Given the description of an element on the screen output the (x, y) to click on. 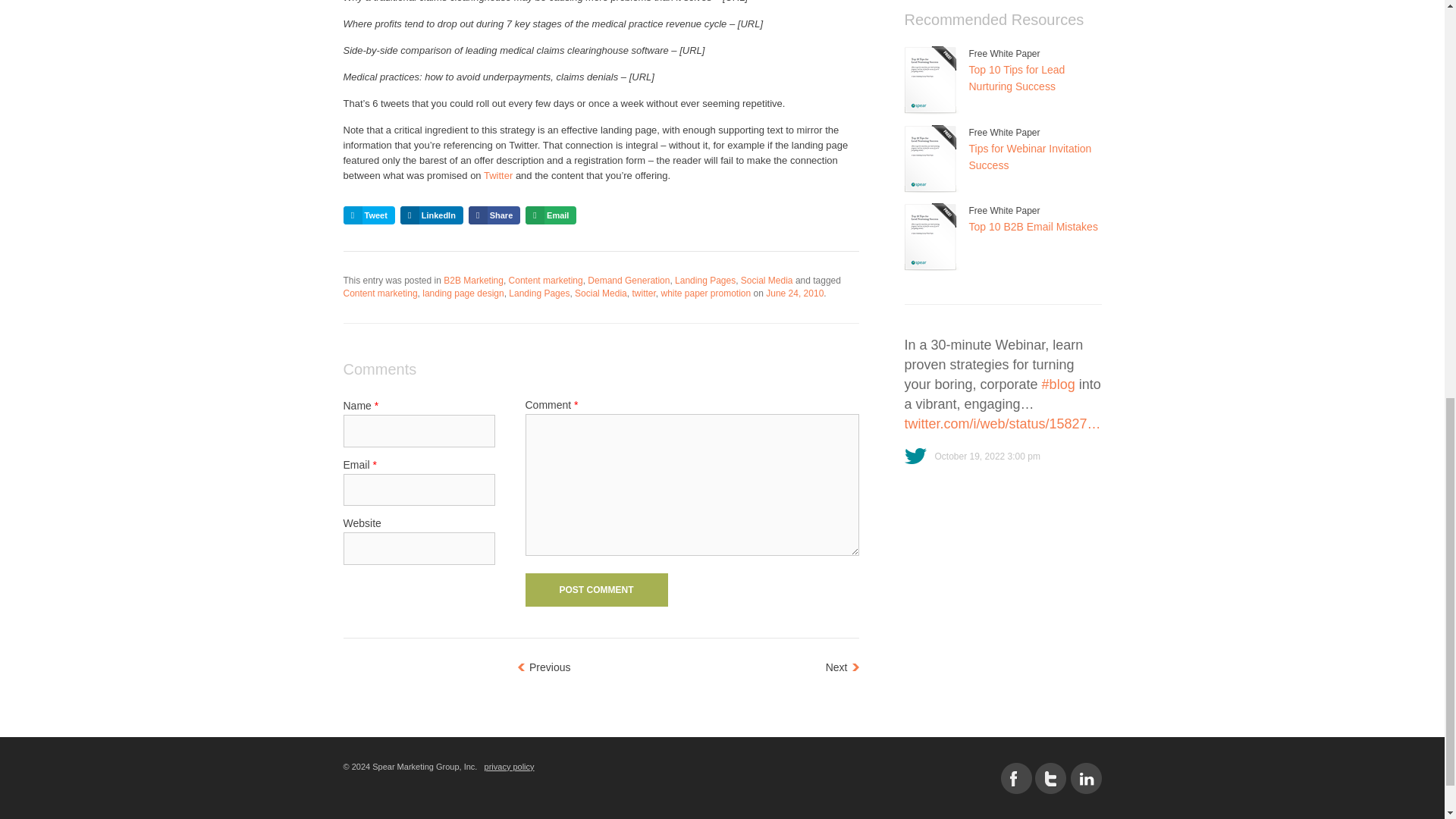
Email (550, 215)
Twitter (497, 174)
landing page design (462, 293)
Content marketing (545, 280)
Social Media (767, 280)
Post Comment (595, 589)
B2B Marketing (473, 280)
Landing Pages (705, 280)
Share (494, 215)
Tweet (368, 215)
